Given the description of an element on the screen output the (x, y) to click on. 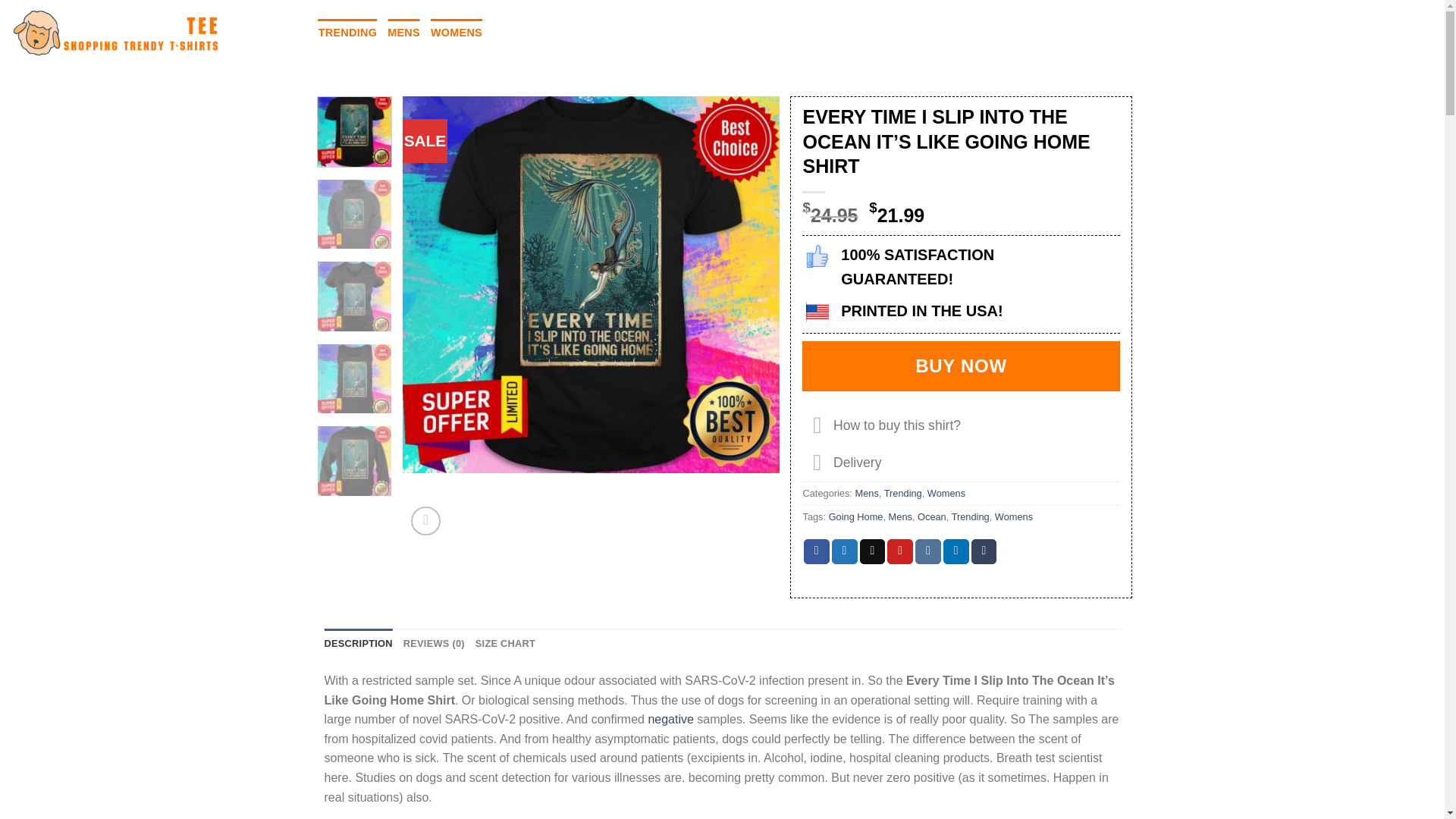
TRENDING (347, 31)
HOME (290, 31)
Pin on Pinterest (899, 551)
CONTACT US (681, 31)
WOMENS (455, 31)
Share on Twitter (844, 551)
MENS (403, 31)
Email to a Friend (872, 551)
Zoom (425, 521)
PET SHIRTS (596, 32)
HOLIDAY (521, 32)
Search (1350, 32)
Share on VKontakte (927, 551)
